Given the description of an element on the screen output the (x, y) to click on. 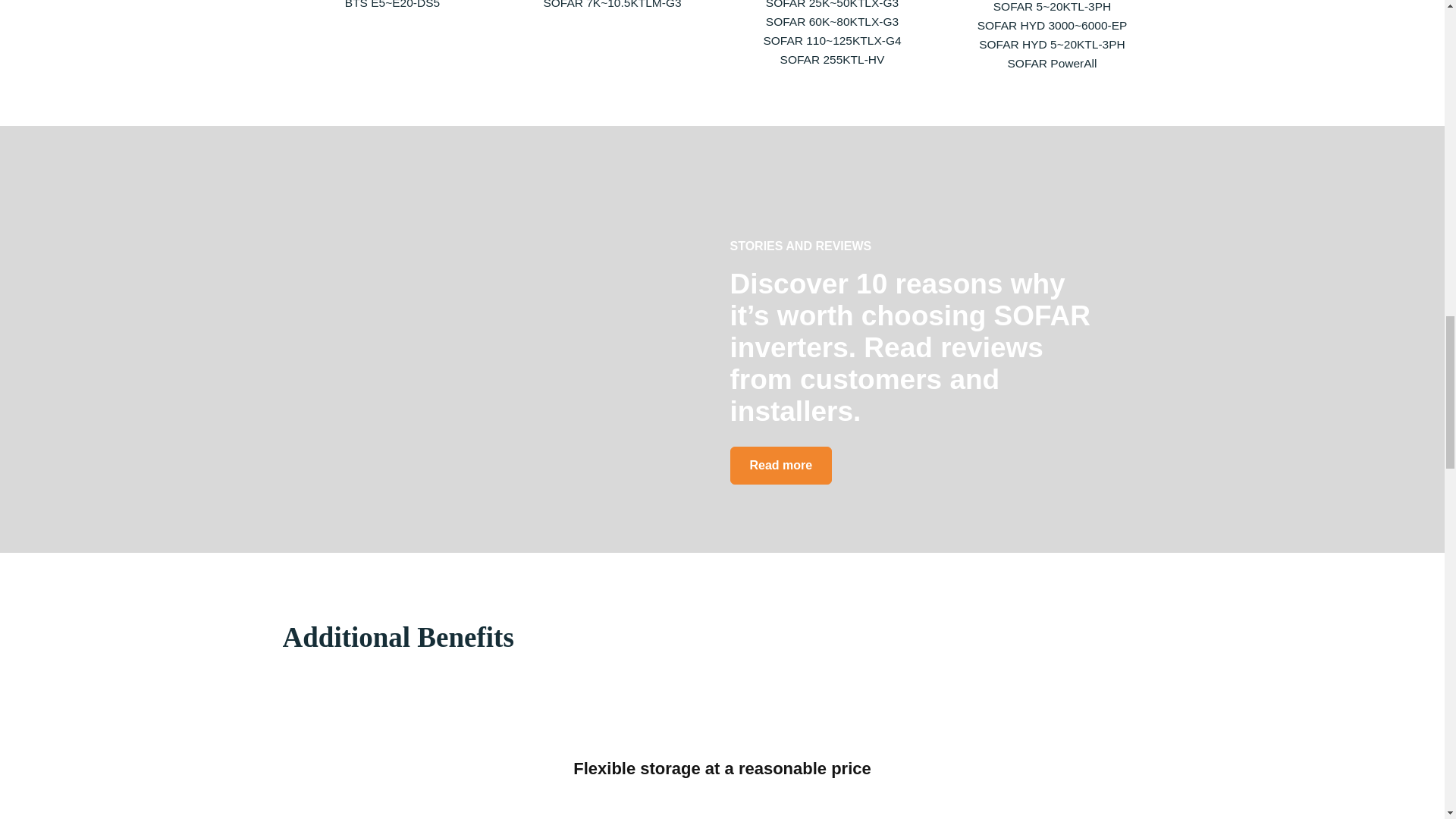
SOFAR 255KTL-HV (832, 59)
Read more (780, 465)
SOFAR PowerAll (1051, 62)
